Given the description of an element on the screen output the (x, y) to click on. 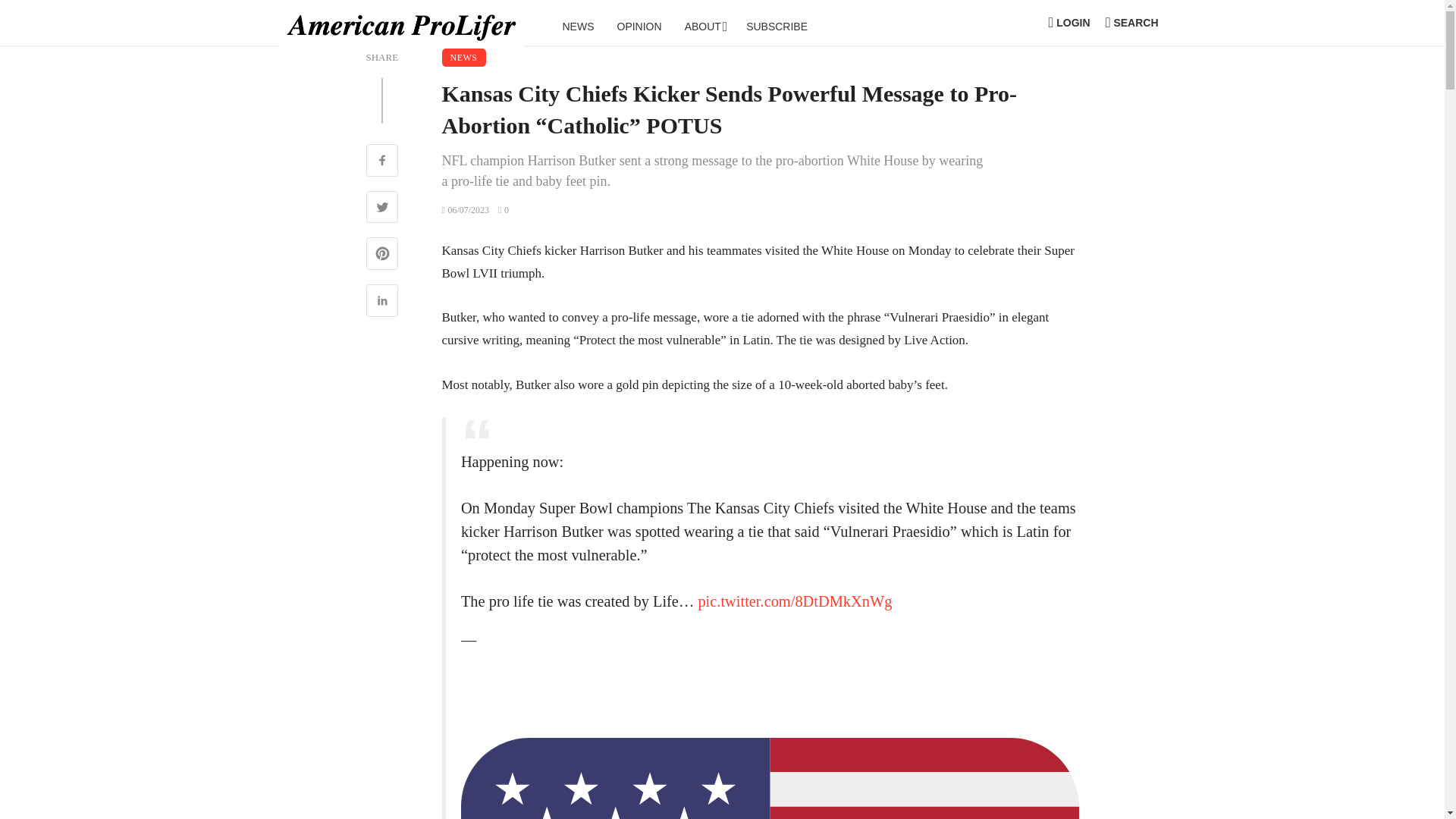
0 (502, 209)
June 7, 2023 at 11:57 am (465, 209)
Share on Facebook (381, 162)
SEARCH (1131, 22)
ABOUT (703, 26)
Share on Linkedin (381, 302)
0 Comments (502, 209)
LOGIN (1069, 22)
OPINION (638, 26)
NEWS (462, 57)
